Given the description of an element on the screen output the (x, y) to click on. 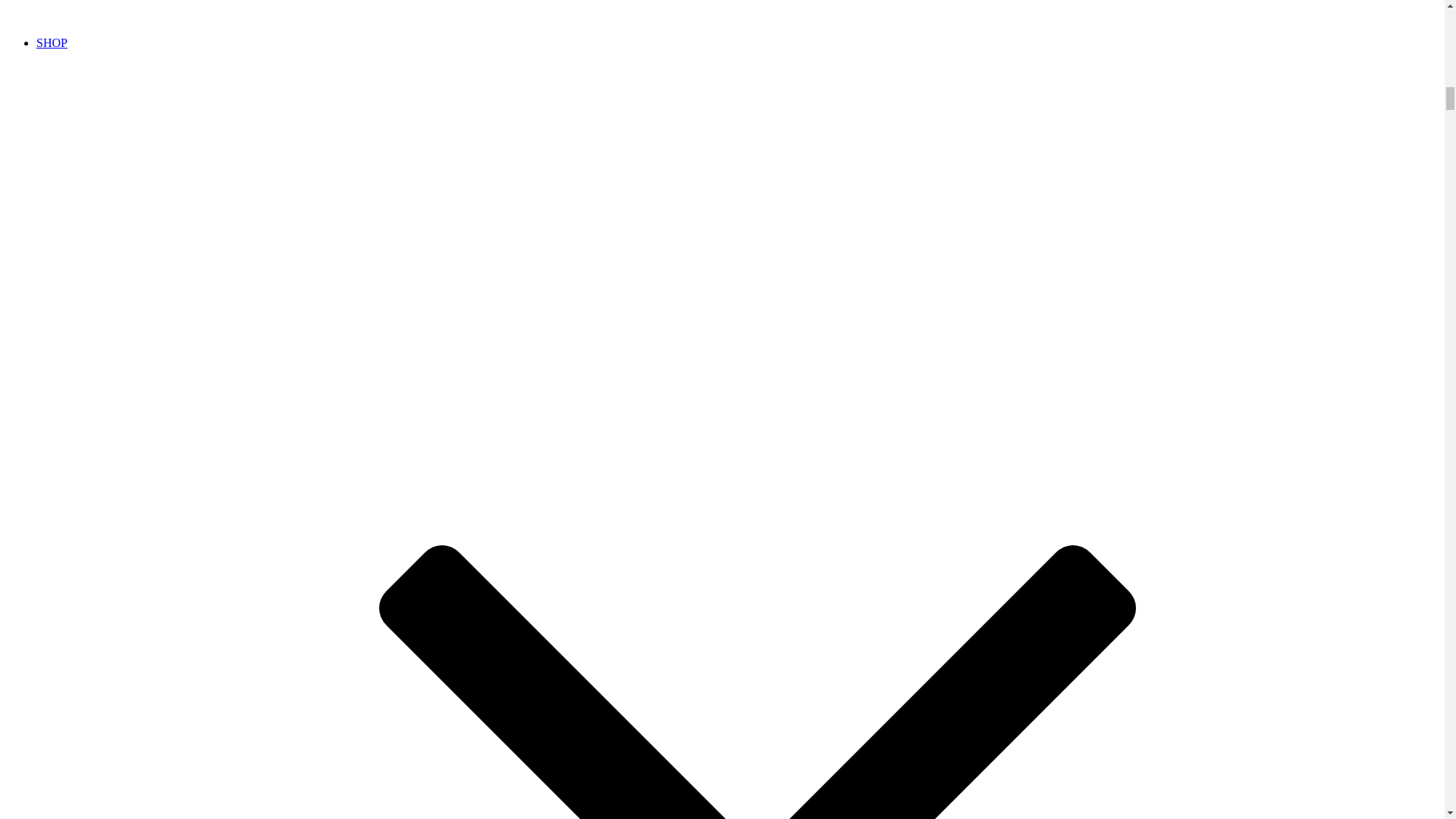
SHOP (51, 42)
